Given the description of an element on the screen output the (x, y) to click on. 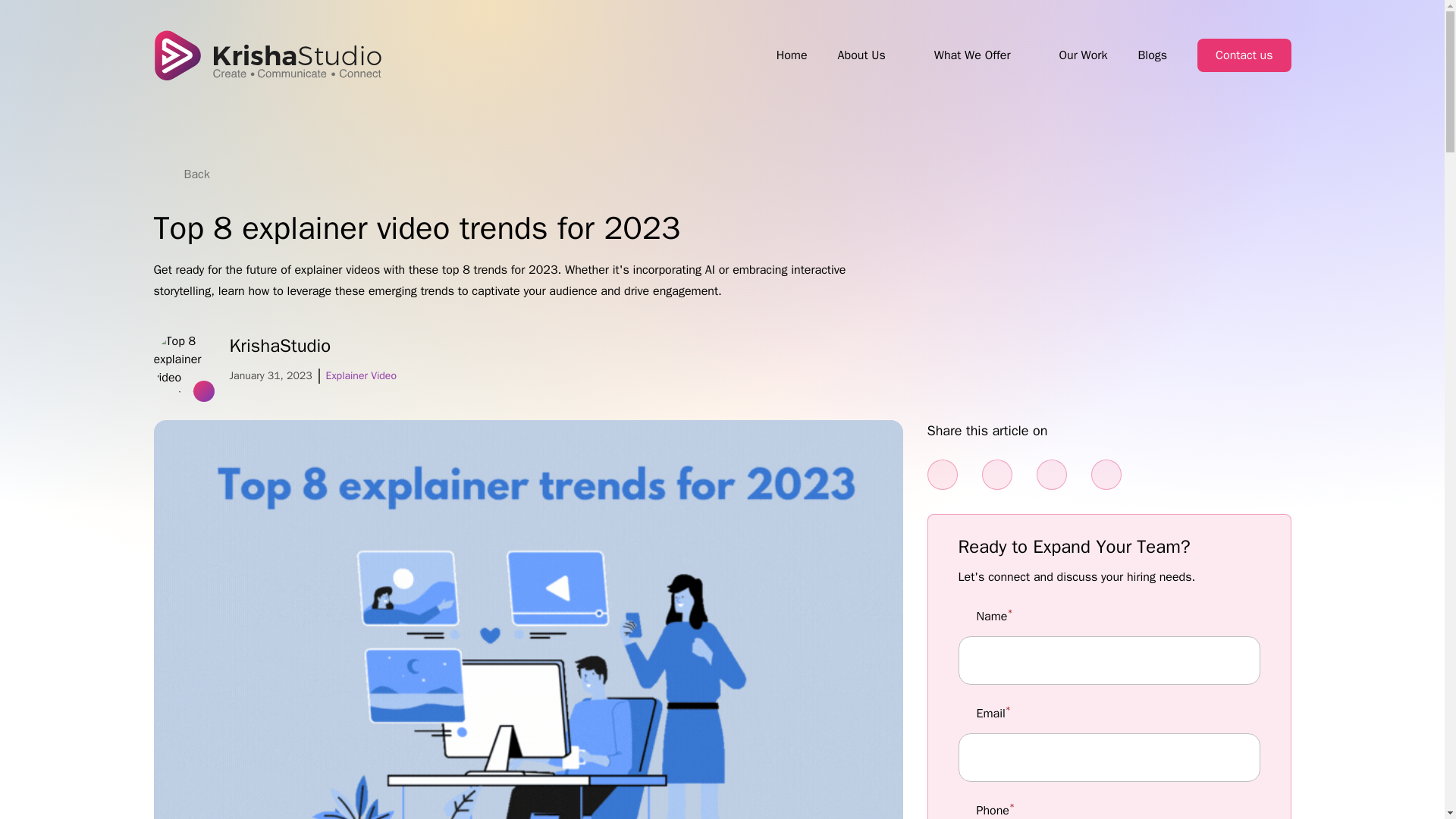
About Us (861, 55)
Explainer Video (361, 375)
Contact us (1243, 55)
What We Offer (972, 55)
Our Work (1082, 55)
Blogs (1152, 55)
Back (186, 174)
Home (792, 55)
